Given the description of an element on the screen output the (x, y) to click on. 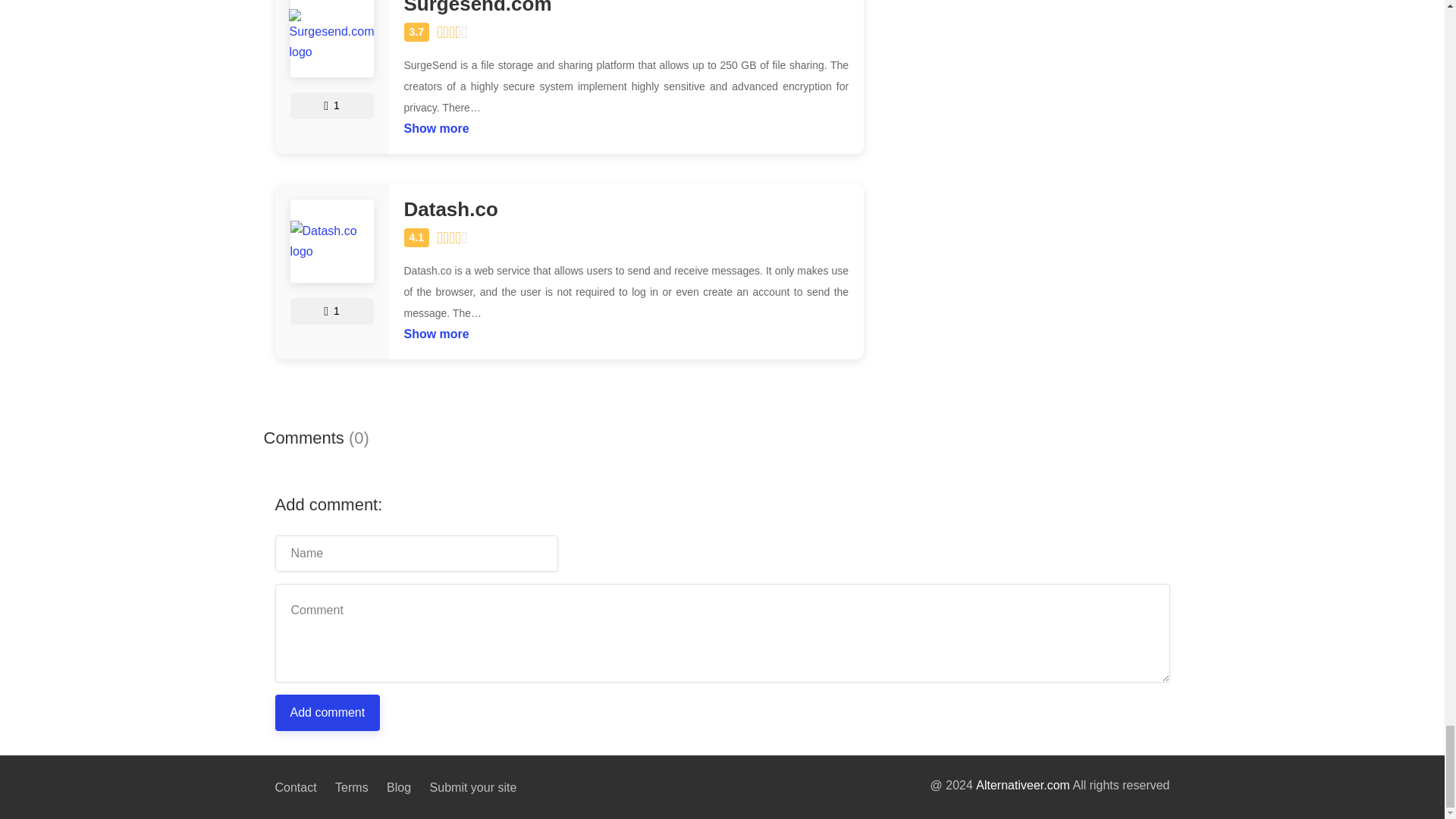
Add comment (327, 712)
